Given the description of an element on the screen output the (x, y) to click on. 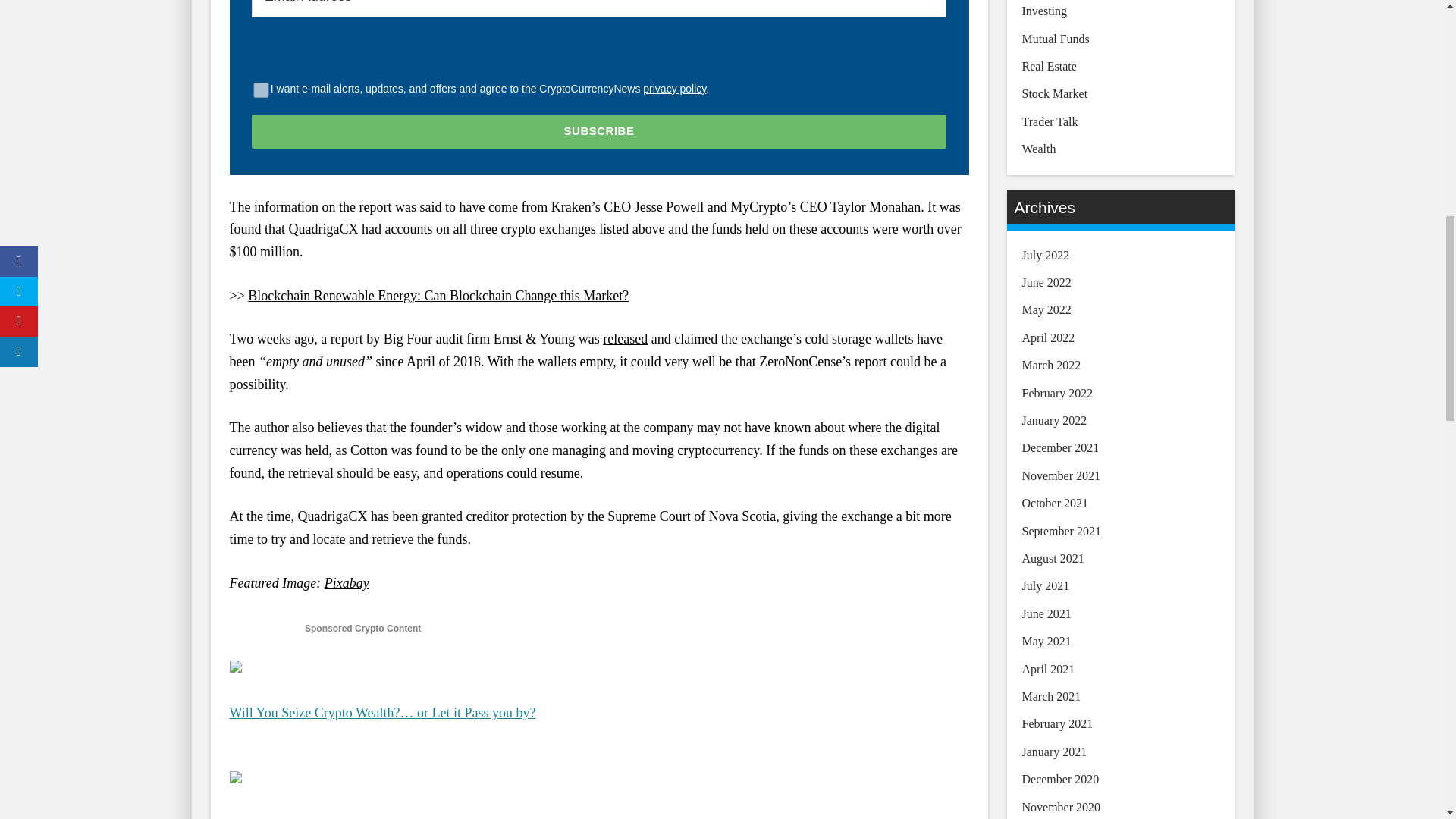
Subscribe (599, 131)
1 (260, 89)
